Given the description of an element on the screen output the (x, y) to click on. 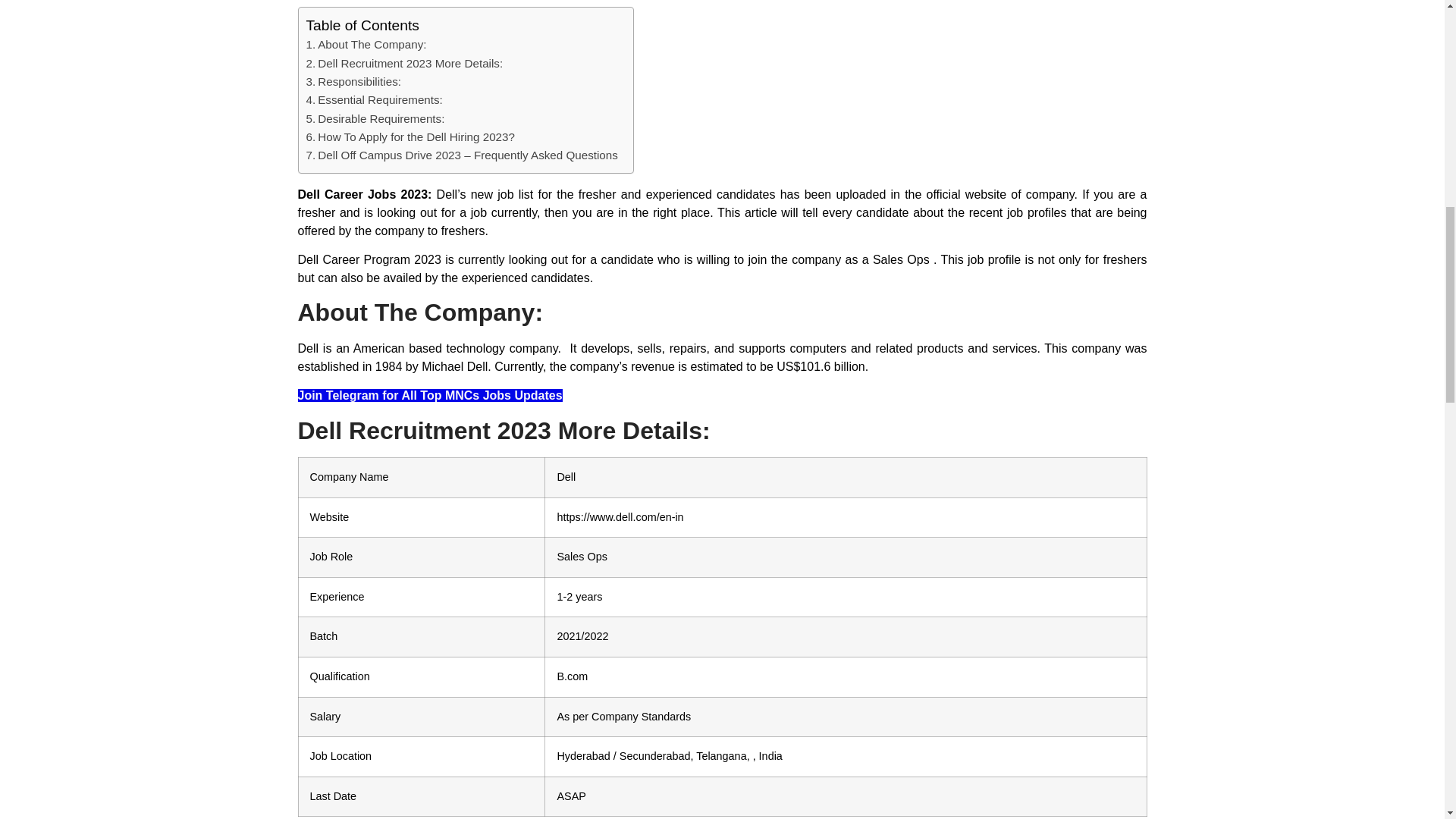
About The Company: (365, 45)
Dell Recruitment 2023 More Details: (404, 63)
Responsibilities: (353, 81)
Desirable Requirements: (375, 118)
Essential Requirements: (373, 99)
How To Apply for the Dell Hiring 2023? (410, 136)
